Given the description of an element on the screen output the (x, y) to click on. 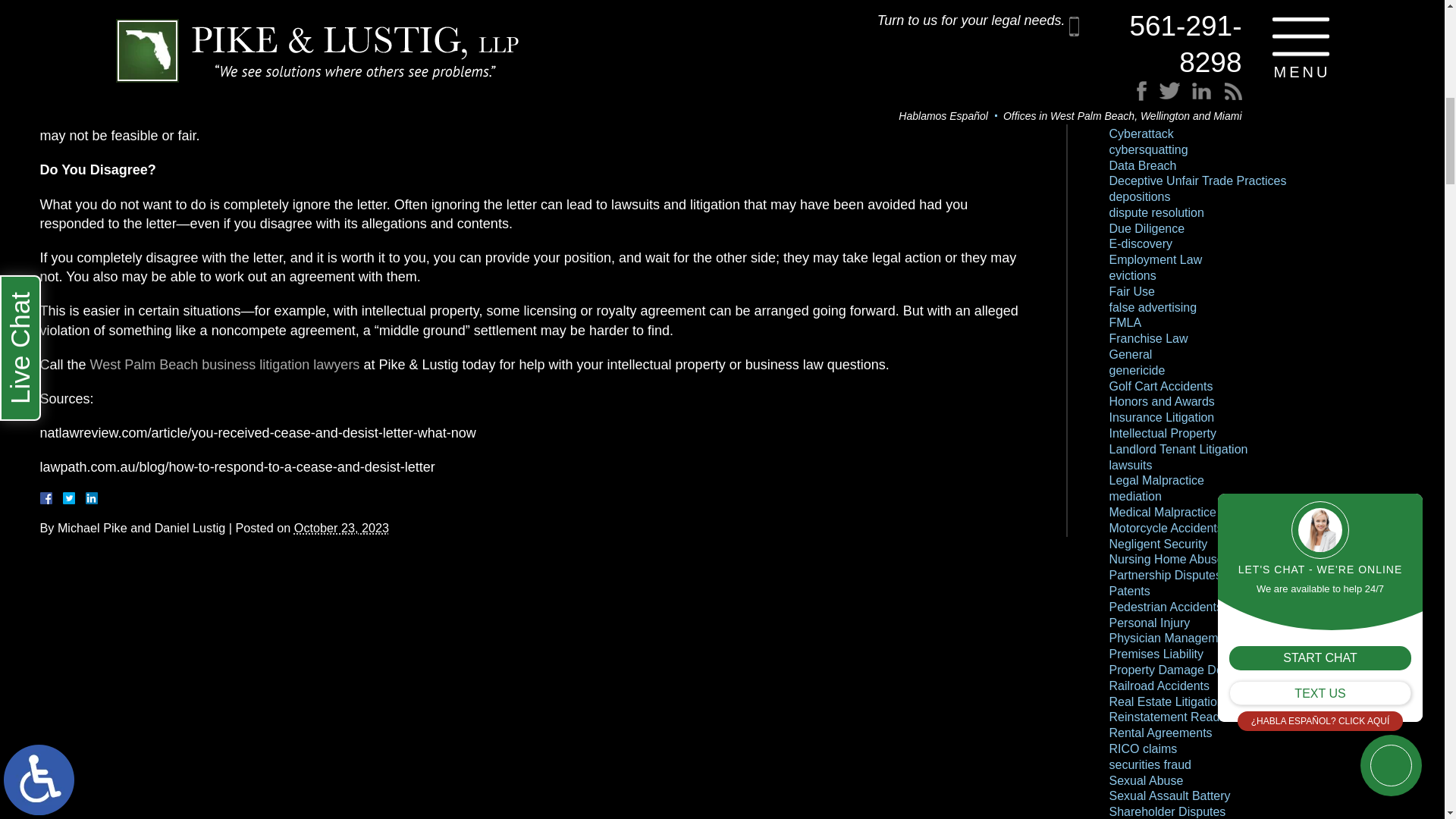
Twitter (74, 498)
2023-10-23T08:12:31-0700 (341, 527)
LinkedIn (85, 498)
Facebook (63, 498)
